Given the description of an element on the screen output the (x, y) to click on. 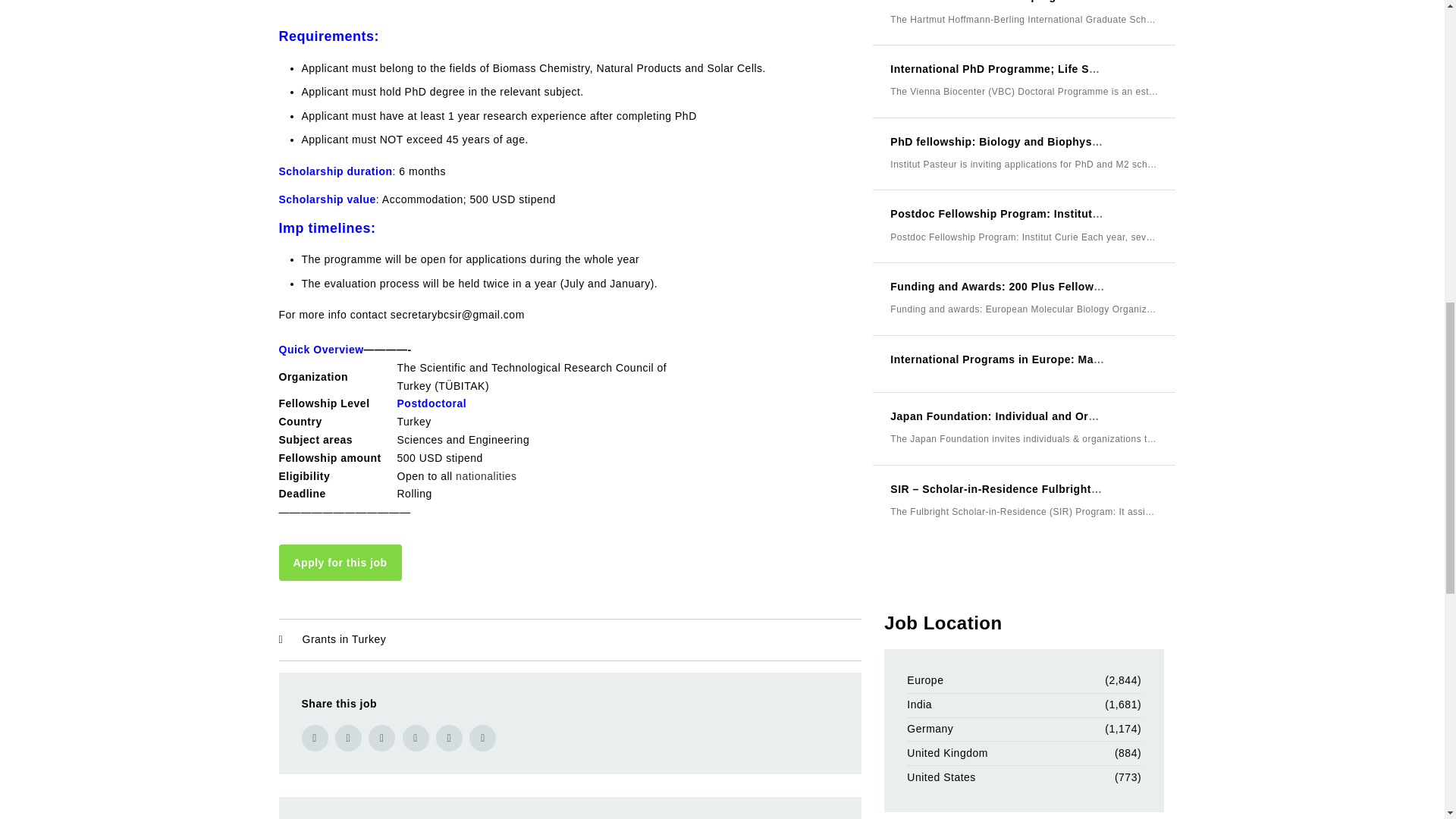
nationalities (485, 476)
Postdoctoral (432, 403)
Share on Facebook (315, 737)
Grants in Turkey (343, 639)
Share on Twitter (347, 737)
Advertisement (570, 8)
Share on email (449, 737)
Share on Whatsapp (482, 737)
Share on LinkedIn (416, 737)
Apply for this job (340, 562)
